Given the description of an element on the screen output the (x, y) to click on. 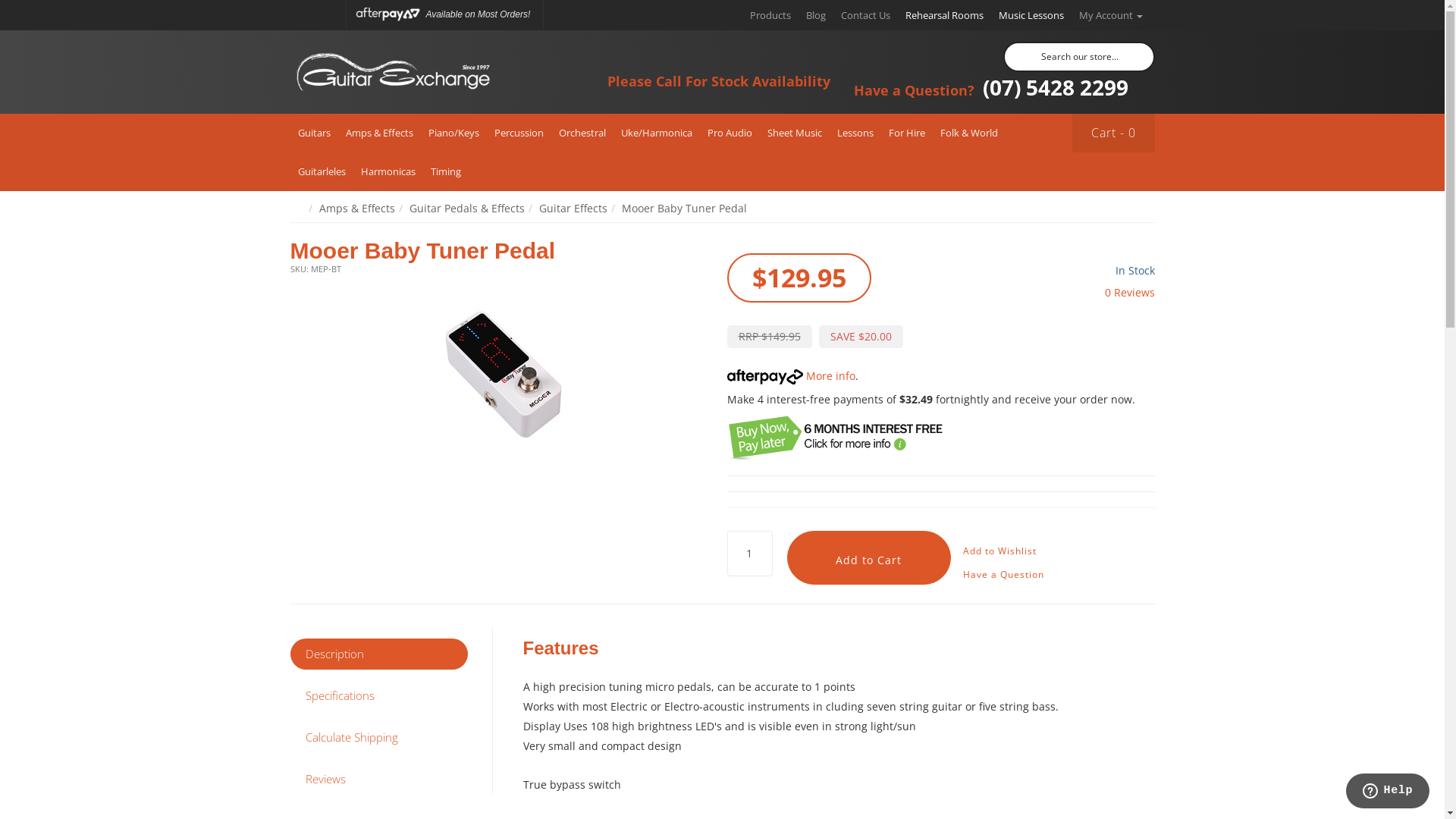
Add to Wishlist Element type: text (998, 551)
Add to Cart Element type: text (868, 557)
Mooer Baby Tuner Pedal Element type: text (683, 207)
Opens a widget where you can chat to one of our agents Element type: hover (1387, 792)
Search our store... Element type: text (1078, 56)
Products Element type: text (769, 15)
More info Element type: text (790, 375)
Calculate Shipping Element type: text (378, 737)
0 Reviews Element type: text (1129, 292)
Blog Element type: text (814, 15)
Rehearsal Rooms Element type: text (944, 15)
Folk & World Element type: text (968, 132)
Sheet Music Element type: text (794, 132)
Guitarleles Element type: text (320, 171)
Amps & Effects Element type: text (379, 132)
Pro Audio Element type: text (729, 132)
Music Lessons Element type: text (1030, 15)
For Hire Element type: text (906, 132)
My Account Element type: text (1109, 15)
Lessons Element type: text (855, 132)
Guitar Pedals & Effects Element type: text (466, 207)
Specifications Element type: text (378, 695)
Orchestral Element type: text (581, 132)
Guitar Effects Element type: text (572, 207)
Piano/Keys Element type: text (453, 132)
Percussion Element type: text (518, 132)
Description Element type: text (378, 653)
Harmonicas Element type: text (388, 171)
Timing Element type: text (445, 171)
Reviews Element type: text (378, 778)
Contact Us Element type: text (864, 15)
Uke/Harmonica Element type: text (655, 132)
Guitars Element type: text (313, 132)
Guitar Exchange Element type: hover (391, 72)
Have a Question? (07) 5428 2299 Element type: text (990, 87)
Amps & Effects Element type: text (356, 207)
Have a Question Element type: text (1002, 574)
Cart - 0 Element type: text (1113, 132)
